Given the description of an element on the screen output the (x, y) to click on. 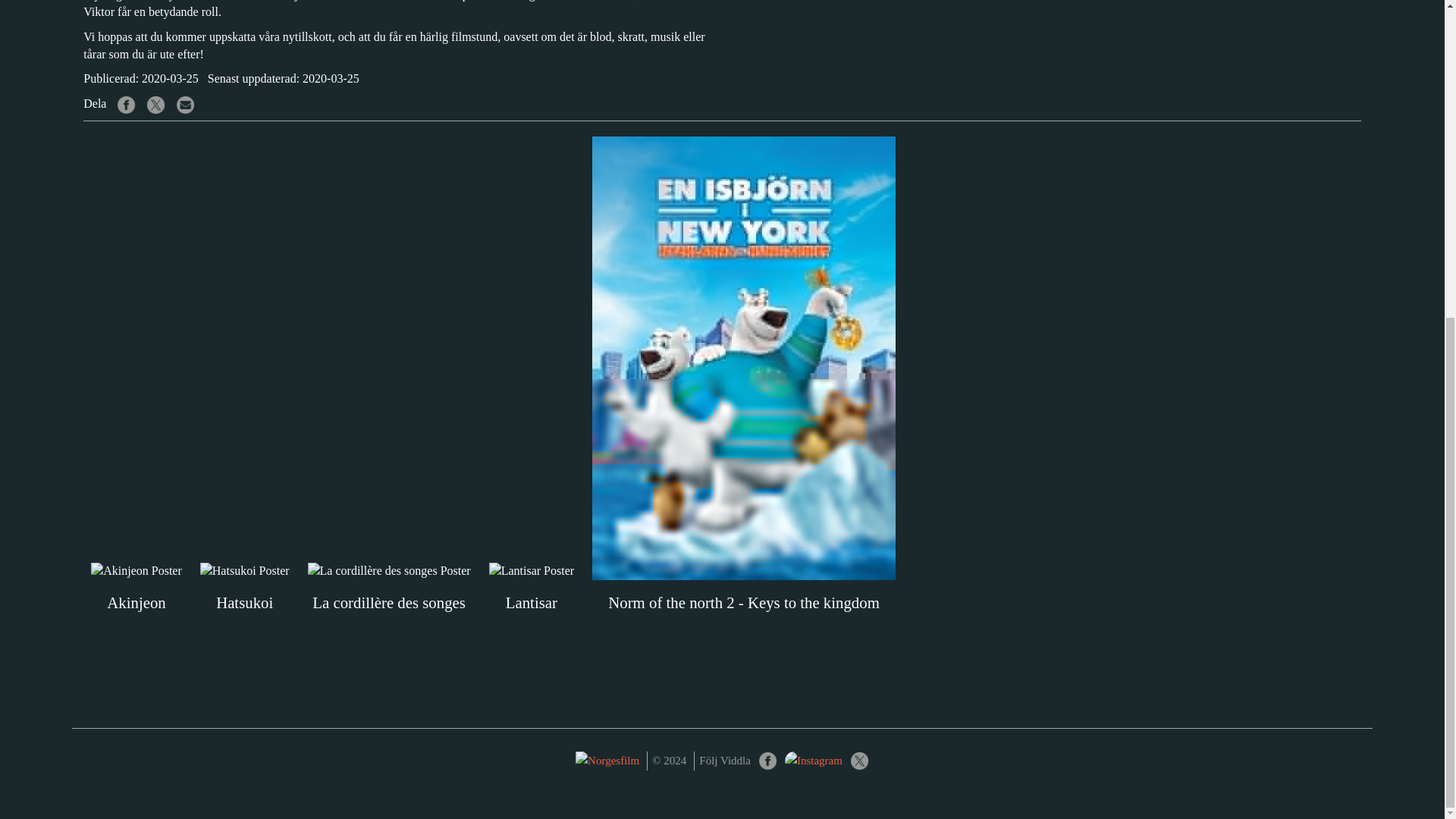
Lantisar (530, 588)
Hatsukoi (244, 588)
Akinjeon (135, 588)
Norm of the north 2 - Keys to the kingdom (743, 482)
